Given the description of an element on the screen output the (x, y) to click on. 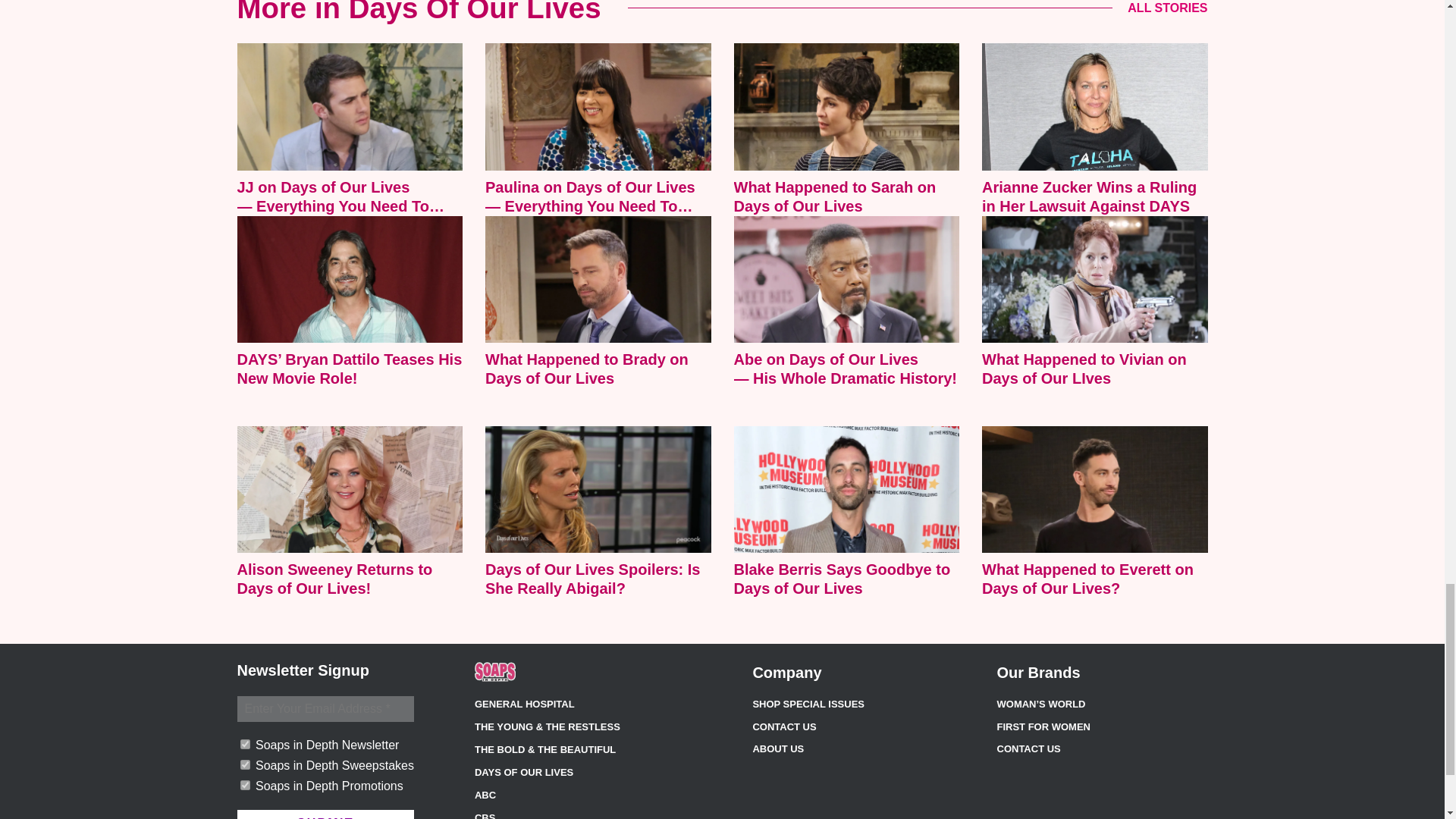
1 (244, 744)
1 (244, 785)
1 (244, 764)
